Given the description of an element on the screen output the (x, y) to click on. 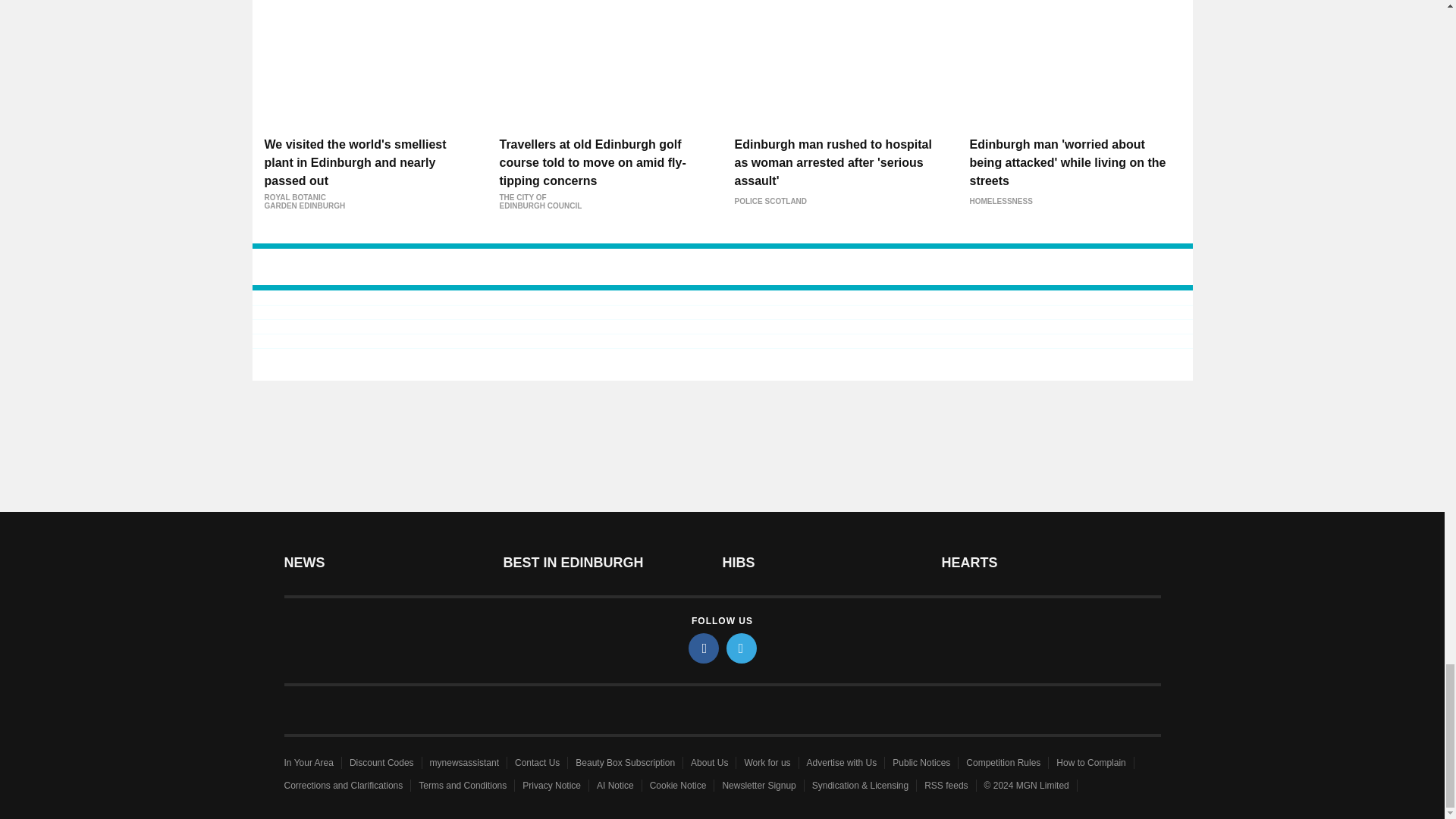
facebook (703, 648)
twitter (741, 648)
